Given the description of an element on the screen output the (x, y) to click on. 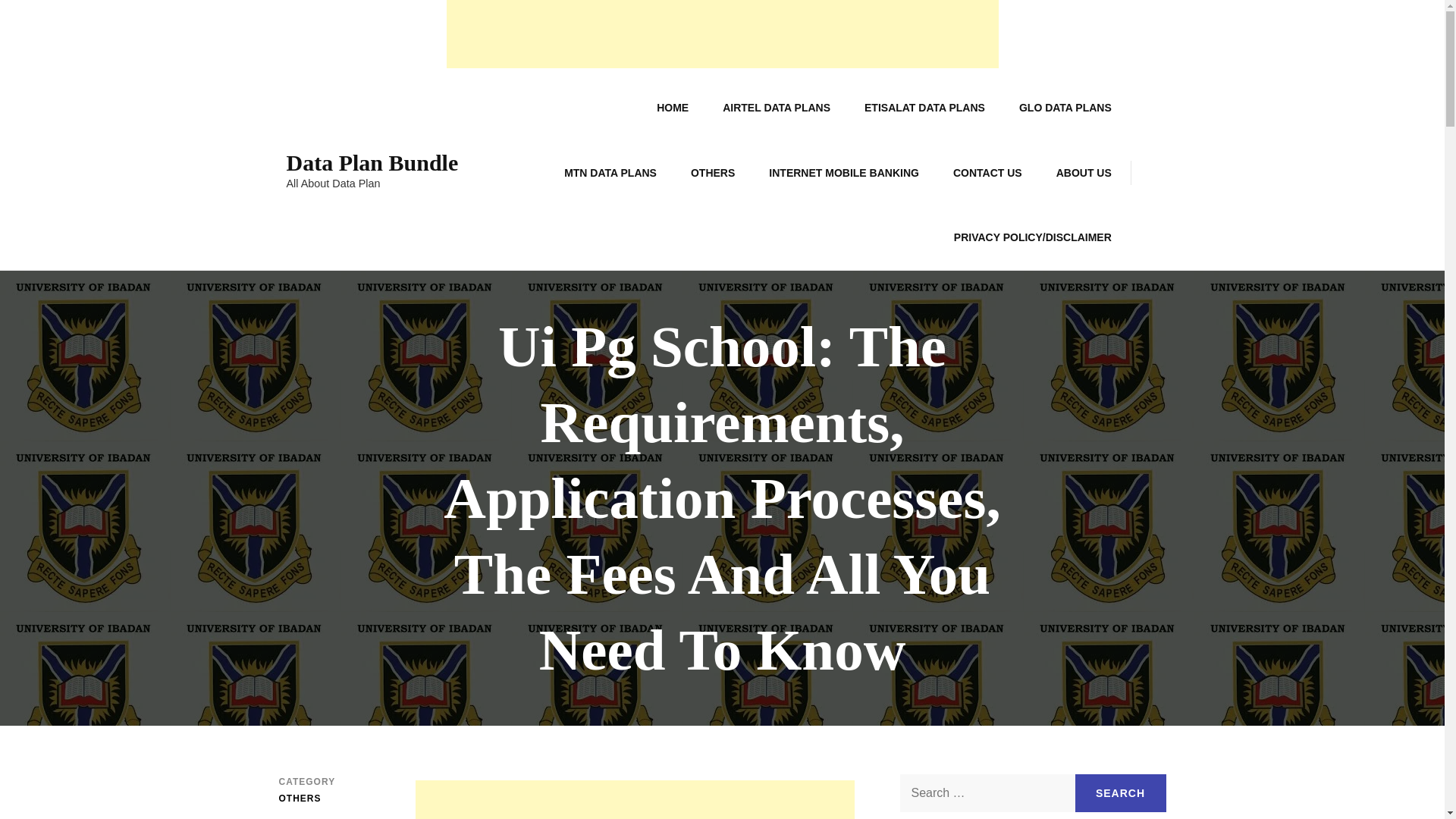
ABOUT US (1083, 172)
CONTACT US (986, 172)
INTERNET MOBILE BANKING (844, 172)
OTHERS (712, 172)
Search (1120, 792)
GLO DATA PLANS (1065, 108)
Advertisement (634, 799)
MTN DATA PLANS (609, 172)
ETISALAT DATA PLANS (924, 108)
AIRTEL DATA PLANS (776, 108)
OTHERS (300, 799)
Search (1120, 792)
Advertisement (721, 33)
Data Plan Bundle (372, 162)
HOME (672, 108)
